Given the description of an element on the screen output the (x, y) to click on. 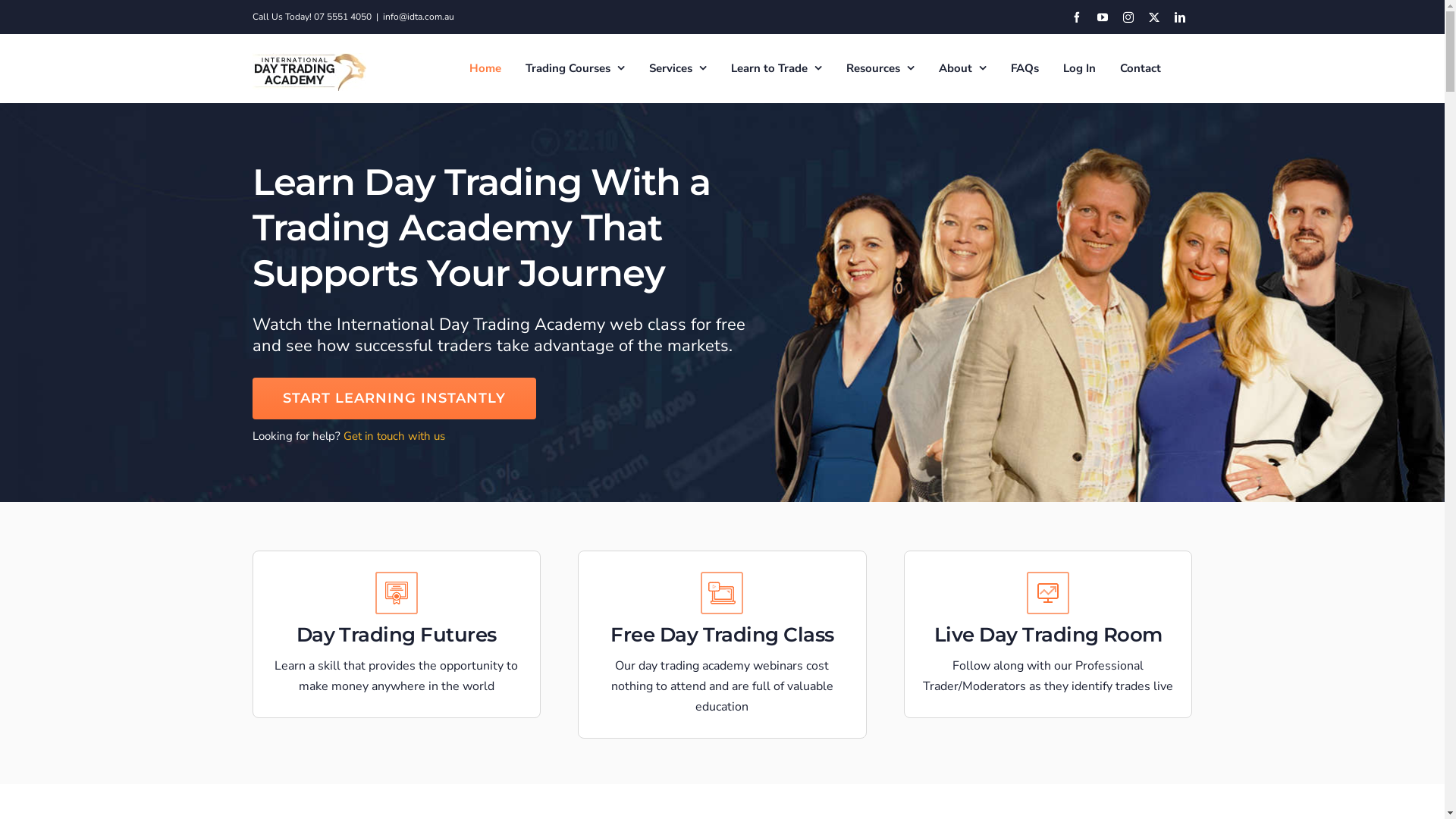
Learn How To Trade 3 Element type: hover (1047, 592)
SEE TRADING ROOM Element type: text (1047, 691)
info@idta.com.au Element type: text (417, 16)
Facebook Element type: text (1075, 17)
Log In Element type: text (1079, 68)
Get in touch with us Element type: text (393, 435)
Learn How To Trade 1 Element type: hover (396, 592)
LEARN DAY TRADING Element type: text (395, 691)
Instagram Element type: text (1127, 17)
Home Element type: text (484, 68)
07 5551 4050 Element type: text (342, 16)
Contact Element type: text (1139, 68)
Trading Courses Element type: text (574, 68)
Resources Element type: text (880, 68)
Services Element type: text (677, 68)
Learn How To Trade 2 Element type: hover (721, 592)
About Element type: text (962, 68)
YouTube Element type: text (1101, 17)
REGISTER FREE Element type: text (722, 691)
Learn to Trade Element type: text (776, 68)
START LEARNING INSTANTLY Element type: text (393, 398)
Twitter Element type: text (1153, 17)
FAQs Element type: text (1024, 68)
LinkedIn Element type: text (1178, 17)
